Given the description of an element on the screen output the (x, y) to click on. 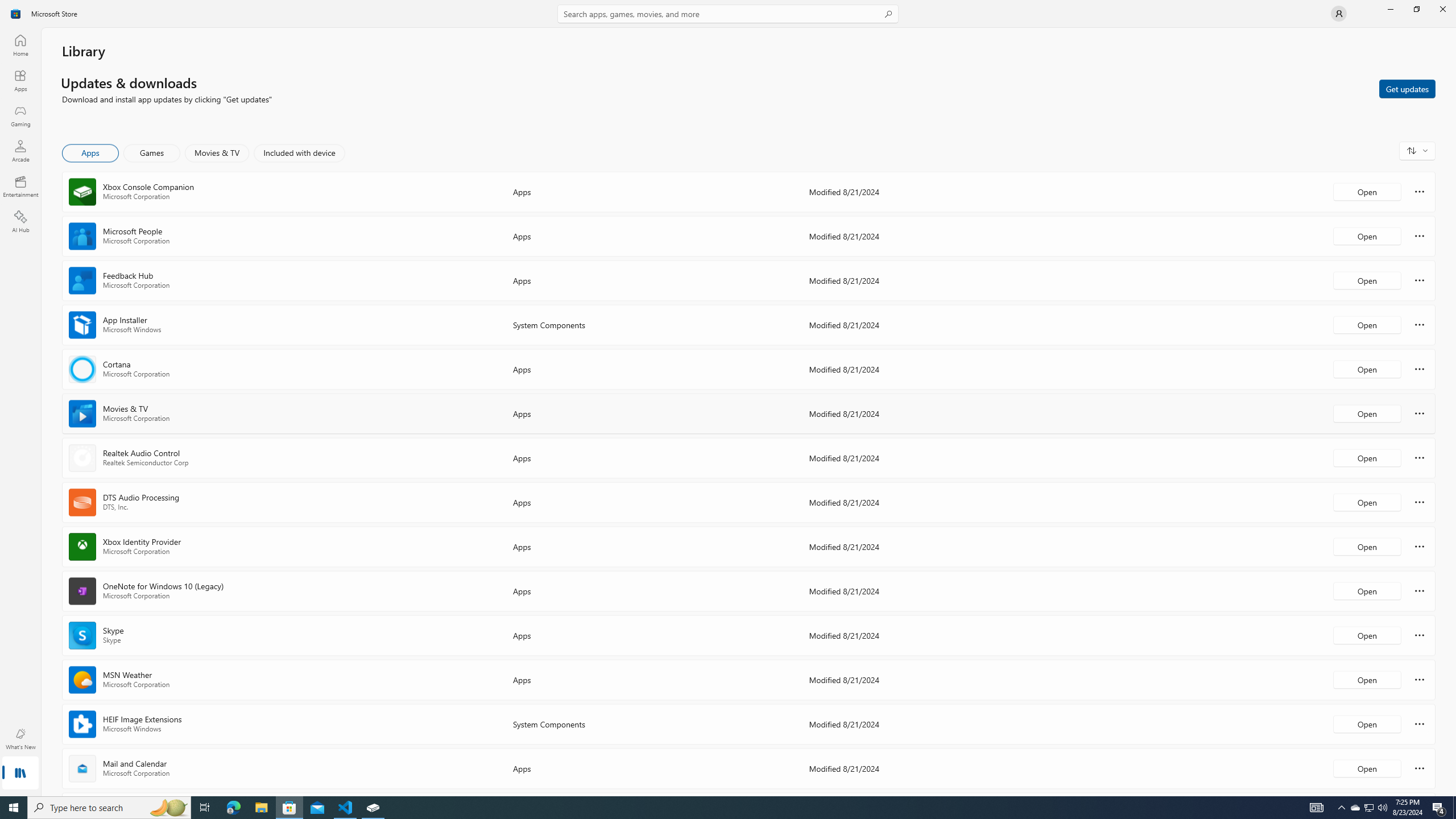
Sort and filter (1417, 149)
